Given the description of an element on the screen output the (x, y) to click on. 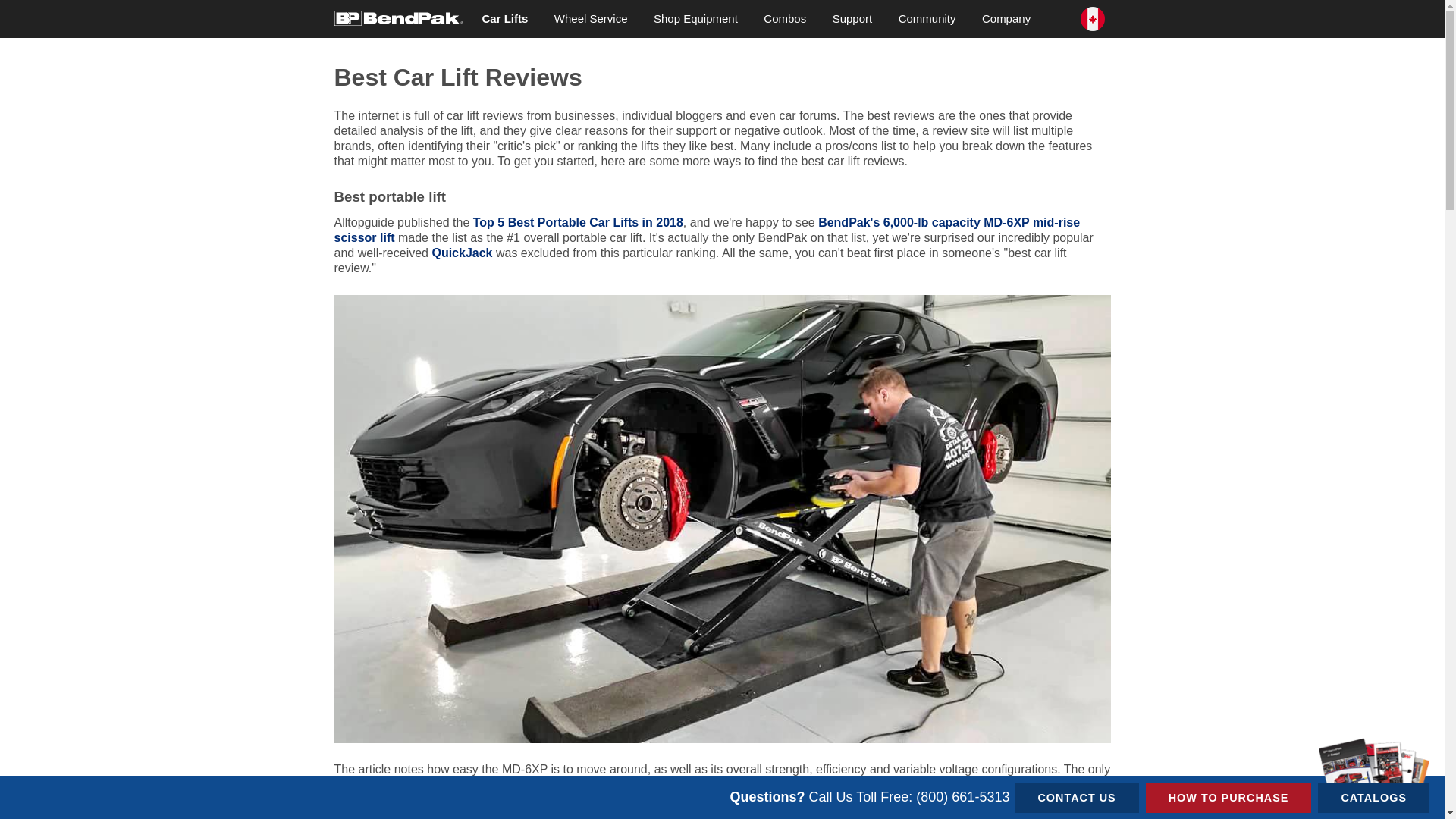
Wheel Service (591, 18)
BendPak (398, 17)
Car Lifts (504, 18)
on (338, 4)
Shop Equipment (695, 18)
